Given the description of an element on the screen output the (x, y) to click on. 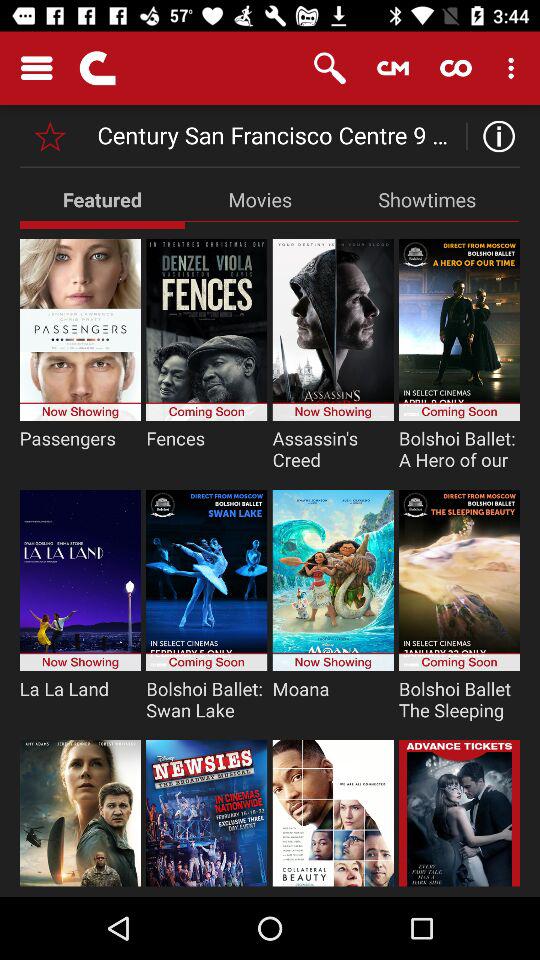
information option (493, 136)
